Given the description of an element on the screen output the (x, y) to click on. 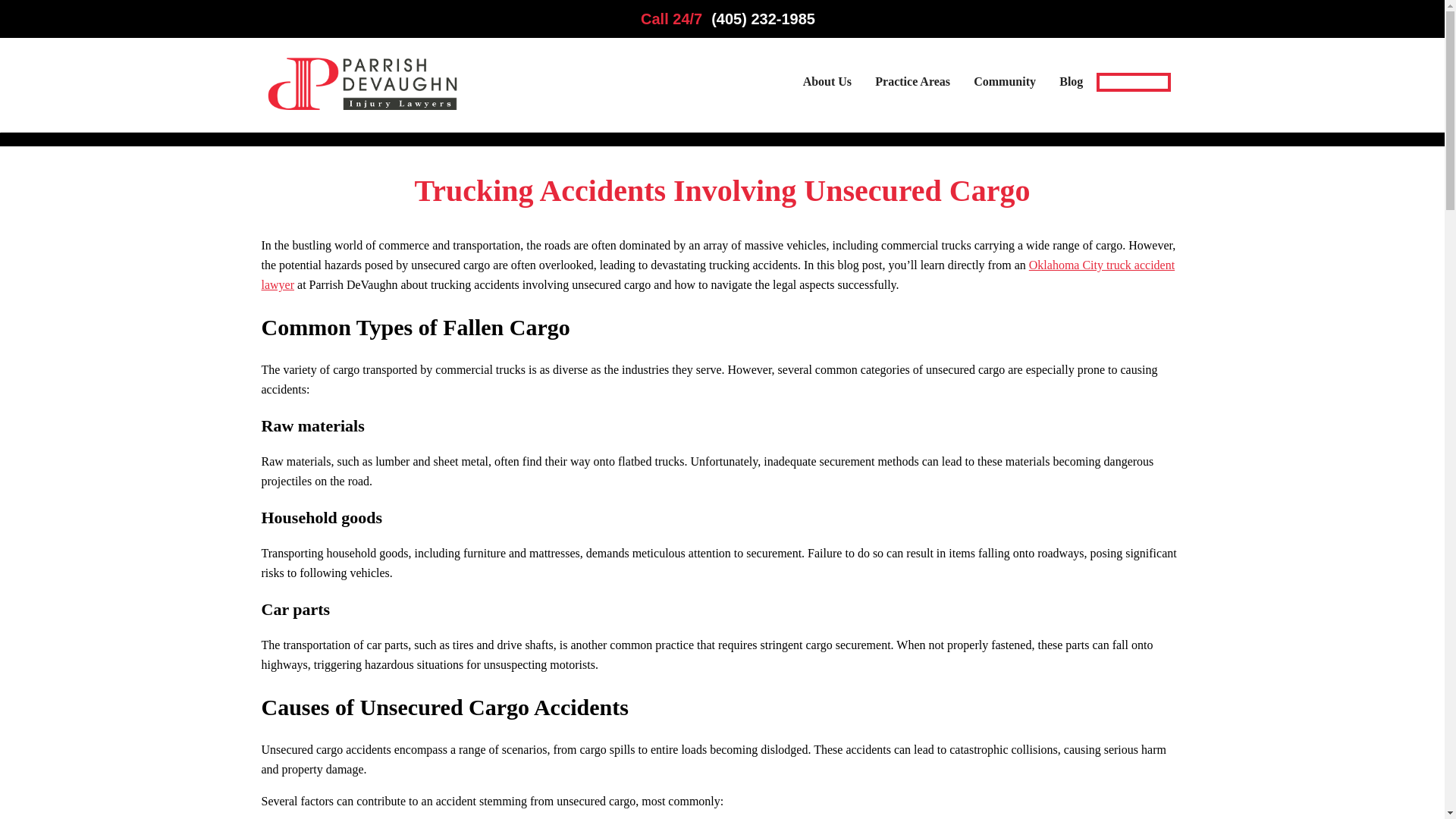
Blog (1071, 81)
Community (1004, 81)
Contact Us (1133, 81)
About Us (827, 81)
Practice Areas (912, 81)
Oklahoma City truck accident lawyer (717, 274)
